Given the description of an element on the screen output the (x, y) to click on. 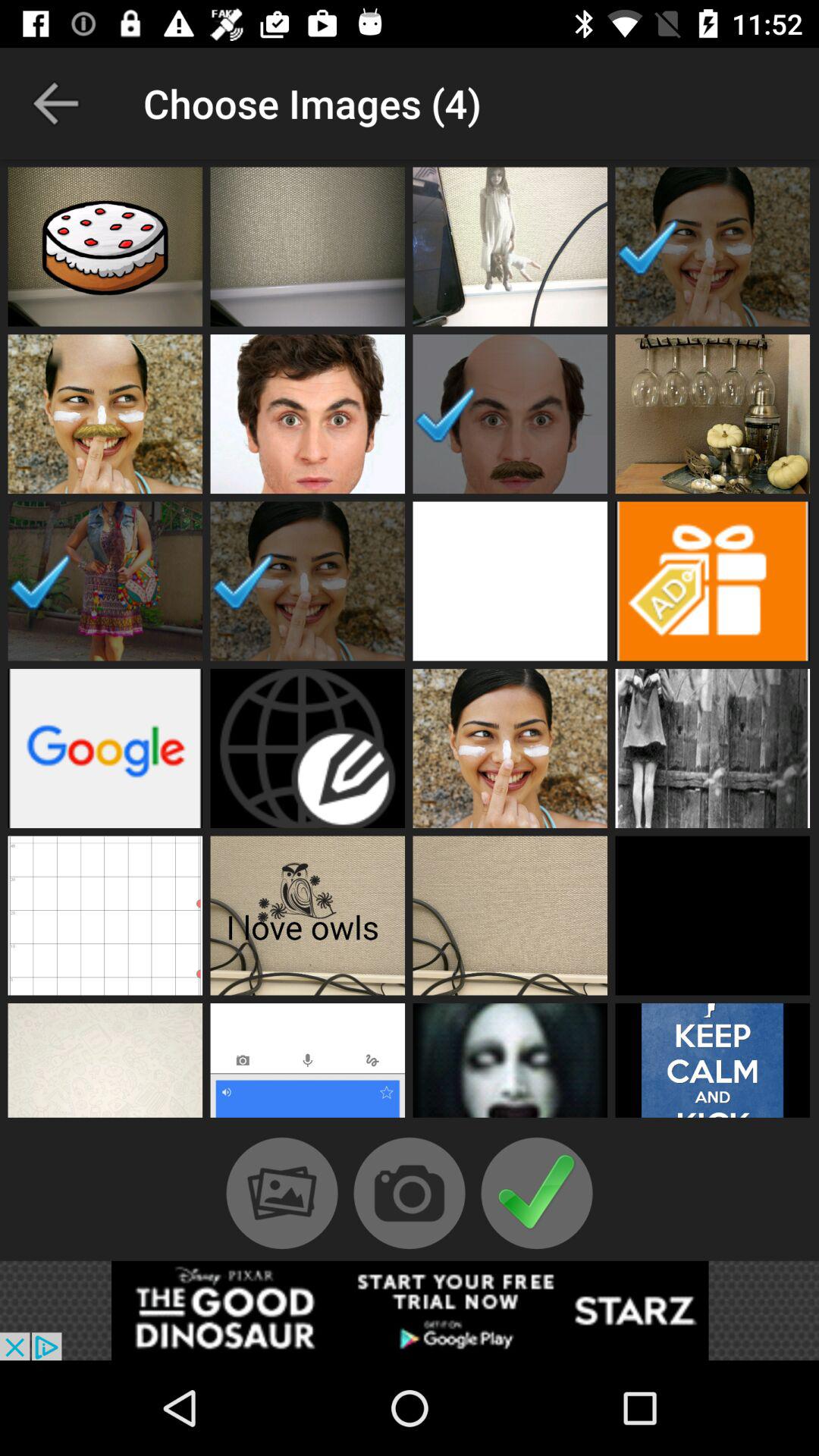
image selection (307, 246)
